Given the description of an element on the screen output the (x, y) to click on. 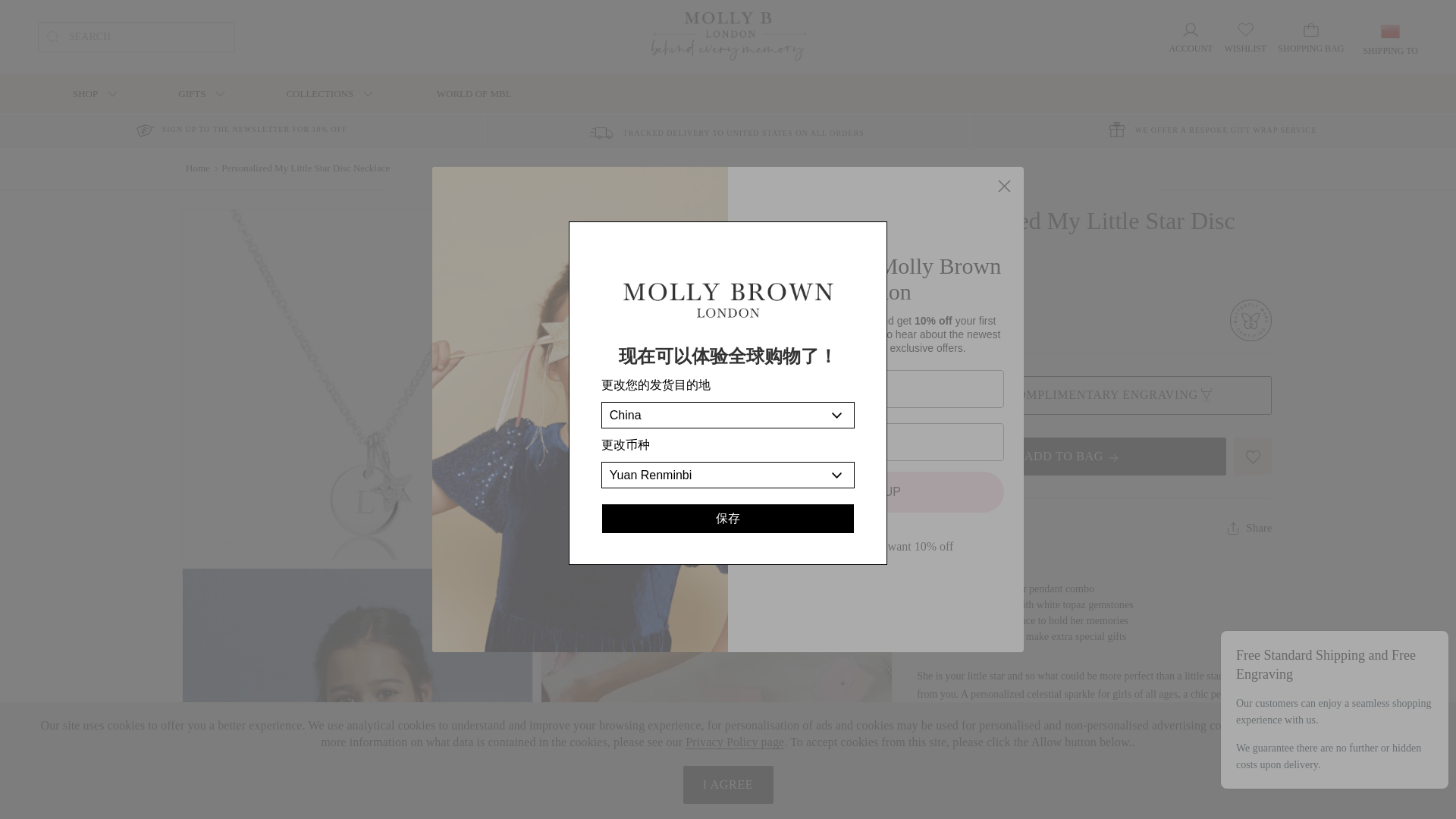
SHOP (89, 94)
Molly B London  (727, 35)
Personalized My Little Star Disc Necklace (357, 693)
Molly B London  (727, 37)
I AGREE (727, 784)
SHOPPING BAG (1310, 36)
Personalized My Little Star Disc Necklace (357, 384)
Add to Bag (1071, 456)
Go to Home Page (197, 167)
WISHLIST (1245, 38)
ACCOUNT (1190, 38)
Privacy Policy page (734, 742)
Personalized My Little Star Disc Necklace (715, 384)
5 Star - 1 (1094, 282)
SHIPPING TO (1390, 39)
